Given the description of an element on the screen output the (x, y) to click on. 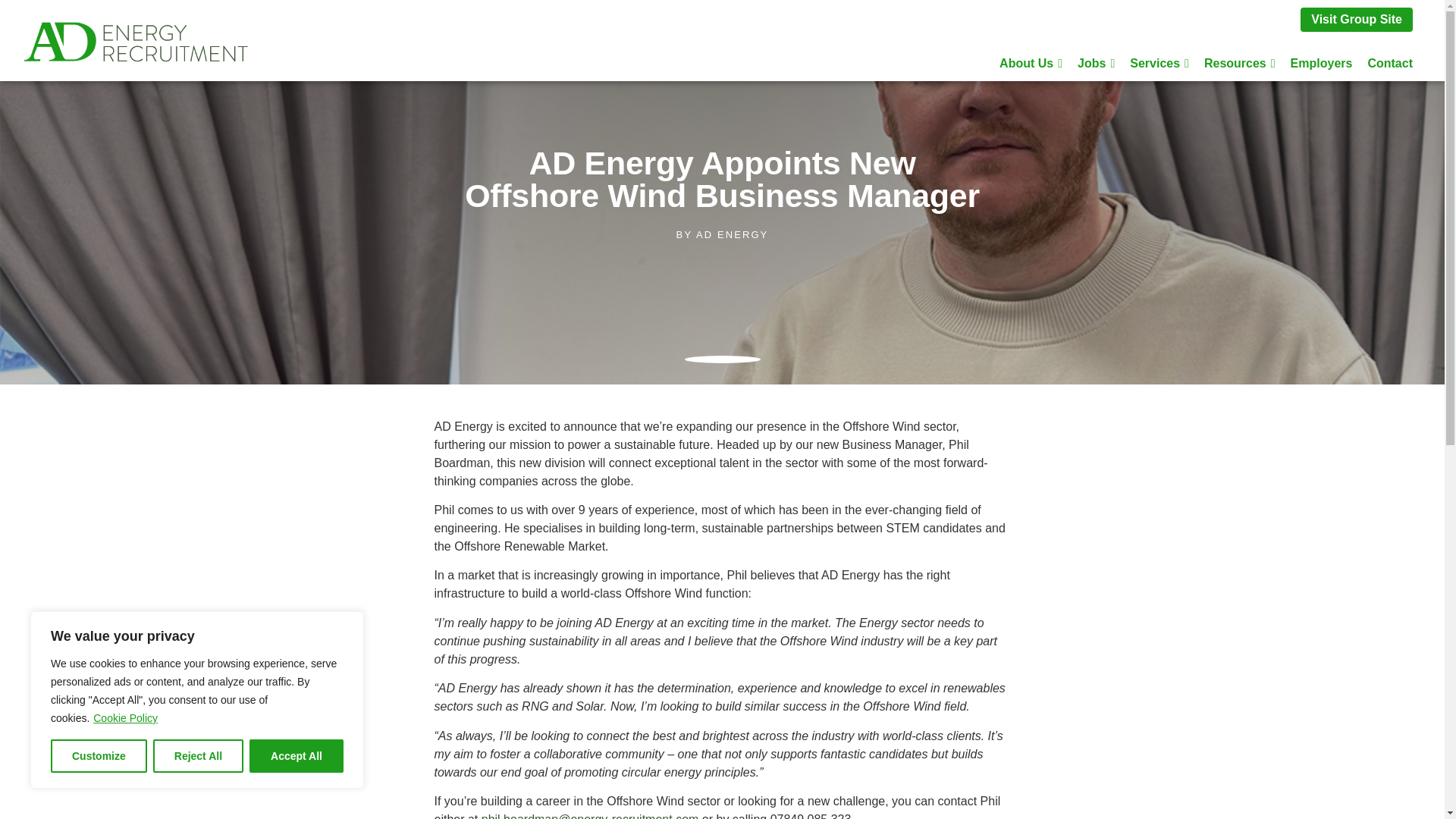
Customize (98, 756)
About Us (1030, 63)
Accept All (295, 756)
Jobs (1096, 63)
Cookie Policy (125, 717)
Reject All (197, 756)
Visit Group Site (1356, 19)
Services (1159, 63)
